Given the description of an element on the screen output the (x, y) to click on. 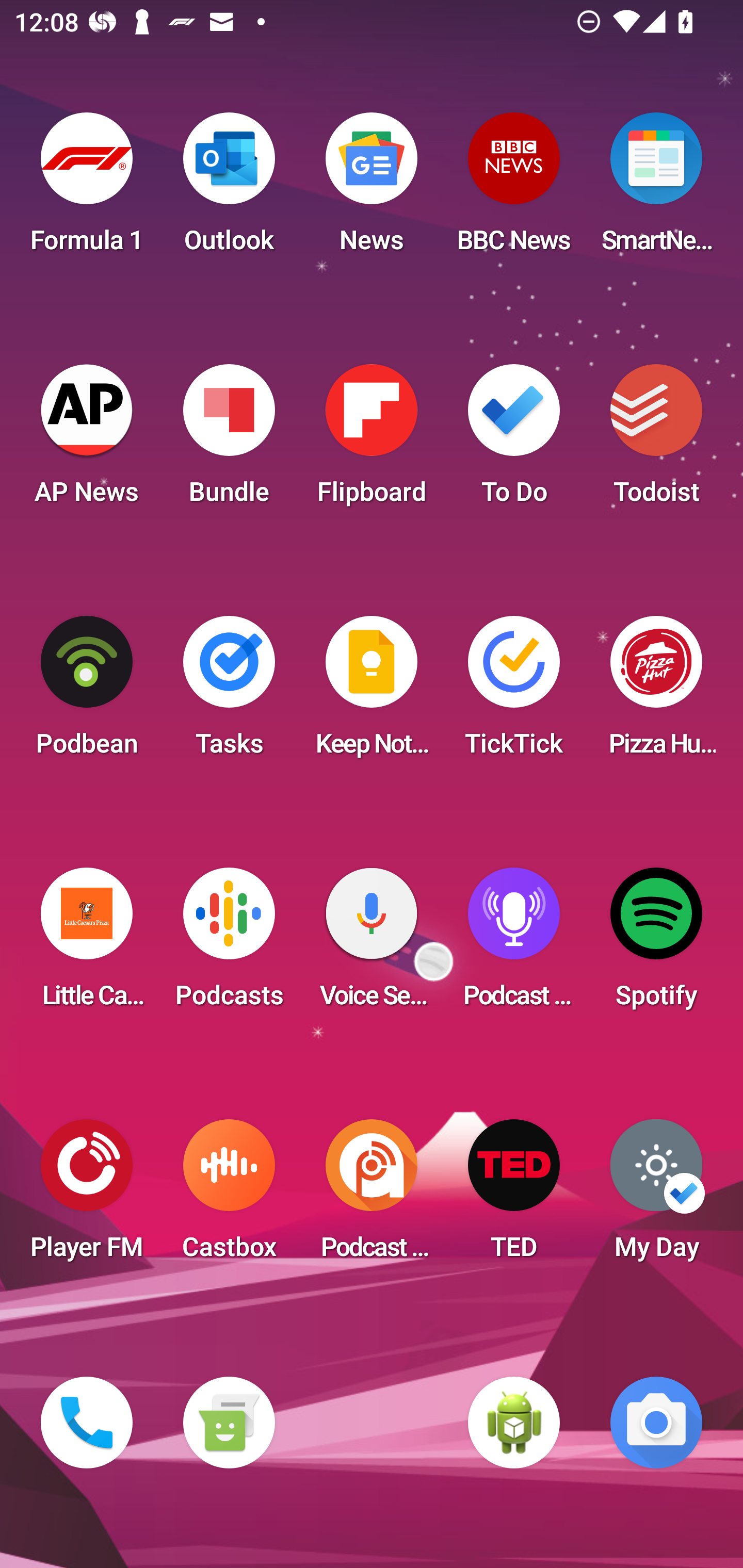
Formula 1 (86, 188)
Outlook (228, 188)
News (371, 188)
BBC News (513, 188)
SmartNews (656, 188)
AP News (86, 440)
Bundle (228, 440)
Flipboard (371, 440)
To Do (513, 440)
Todoist (656, 440)
Podbean (86, 692)
Tasks (228, 692)
Keep Notes (371, 692)
TickTick (513, 692)
Pizza Hut HK & Macau (656, 692)
Little Caesars Pizza (86, 943)
Podcasts (228, 943)
Voice Search (371, 943)
Podcast Player (513, 943)
Spotify (656, 943)
Player FM (86, 1195)
Castbox (228, 1195)
Podcast Addict (371, 1195)
TED (513, 1195)
My Day (656, 1195)
Phone (86, 1422)
Messaging (228, 1422)
WebView Browser Tester (513, 1422)
Camera (656, 1422)
